Given the description of an element on the screen output the (x, y) to click on. 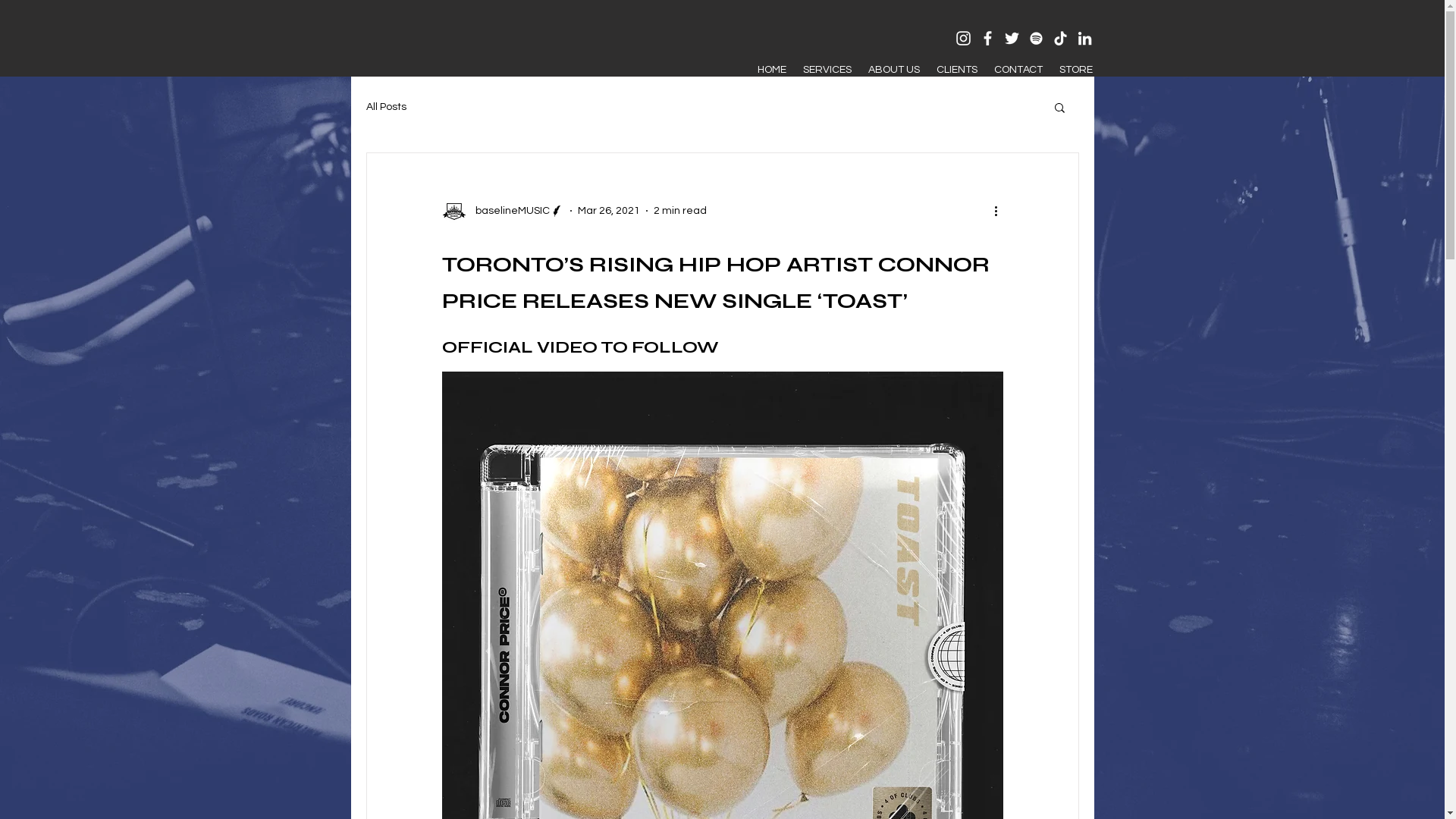
CLIENTS Element type: text (956, 69)
HOME Element type: text (771, 69)
All Posts Element type: text (385, 106)
STORE Element type: text (1076, 69)
ABOUT US Element type: text (893, 69)
CONTACT Element type: text (1018, 69)
baselineMUSIC Element type: text (502, 210)
SERVICES Element type: text (826, 69)
